Given the description of an element on the screen output the (x, y) to click on. 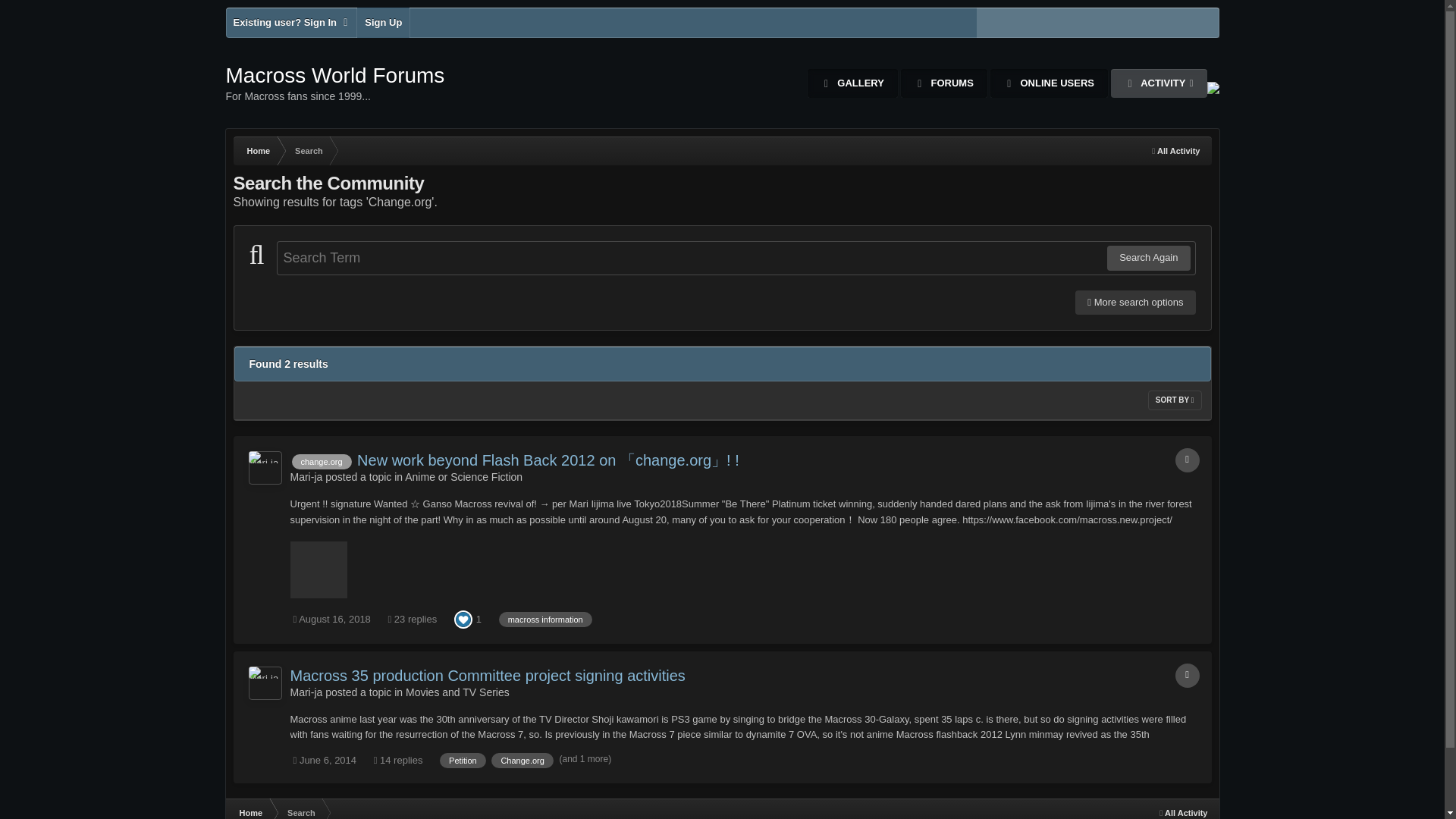
Sign Up (382, 22)
ONLINE USERS (1049, 82)
Go to Mari-ja's profile (265, 683)
ACTIVITY (1158, 82)
Existing user? Sign In   (290, 22)
Home (257, 150)
Go to Mari-ja's profile (305, 692)
More search options (1135, 302)
Find other content tagged with 'macross information' (335, 82)
Go to Mari-ja's profile (545, 619)
Like (305, 476)
Search Again (462, 618)
Find other content tagged with 'Change.org' (1147, 257)
Go to Mari-ja's profile (522, 760)
